Given the description of an element on the screen output the (x, y) to click on. 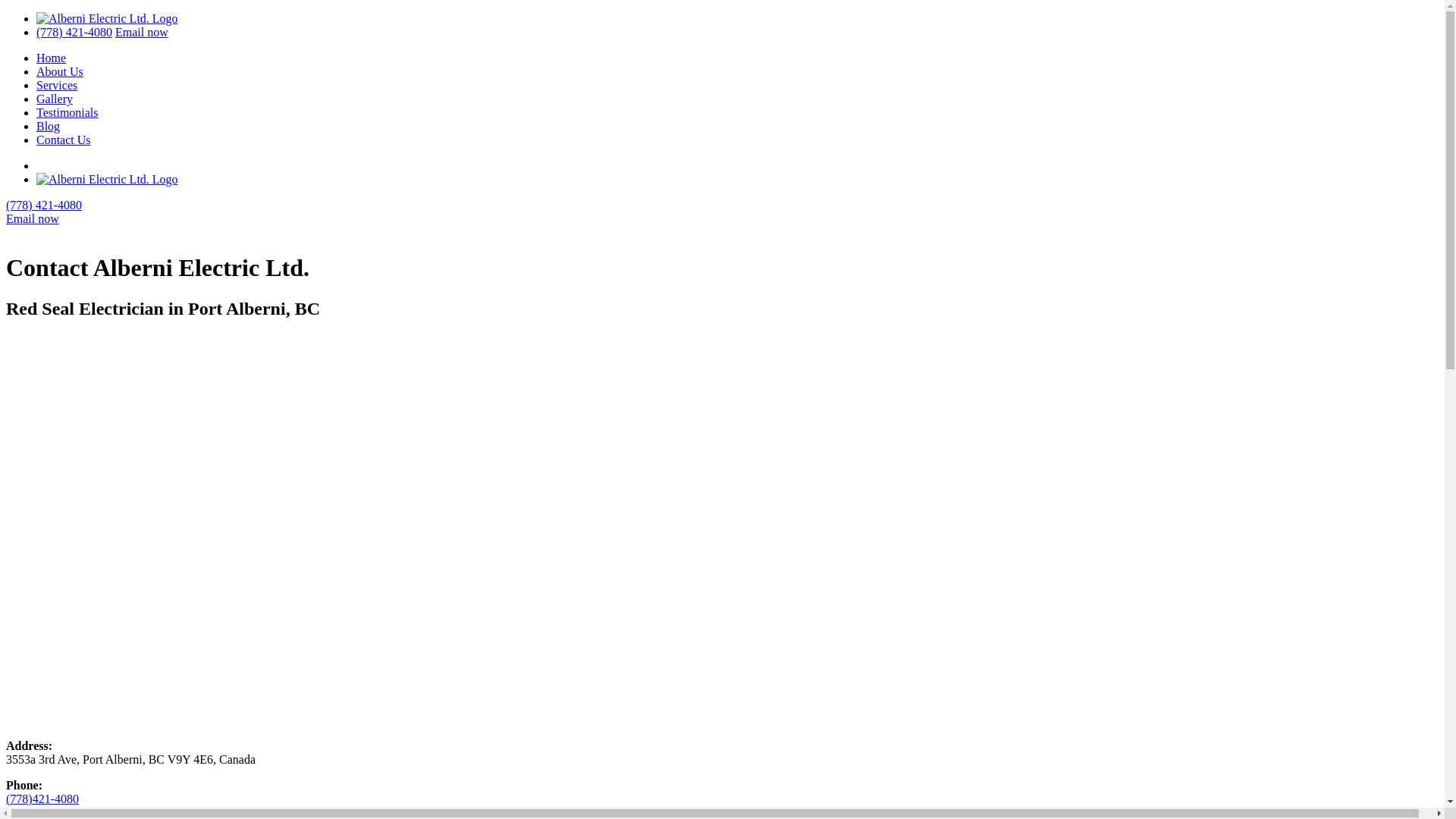
(778) 421-4080 Element type: text (43, 204)
Contact Us Element type: text (63, 139)
Email now Element type: text (32, 218)
Gallery Element type: text (54, 98)
About Us Element type: text (59, 71)
Testimonials Element type: text (67, 112)
(778)421-4080 Element type: text (42, 798)
Blog Element type: text (47, 125)
Services Element type: text (56, 84)
(778) 421-4080 Element type: text (74, 31)
Home Element type: text (50, 57)
Email now Element type: text (141, 31)
